Given the description of an element on the screen output the (x, y) to click on. 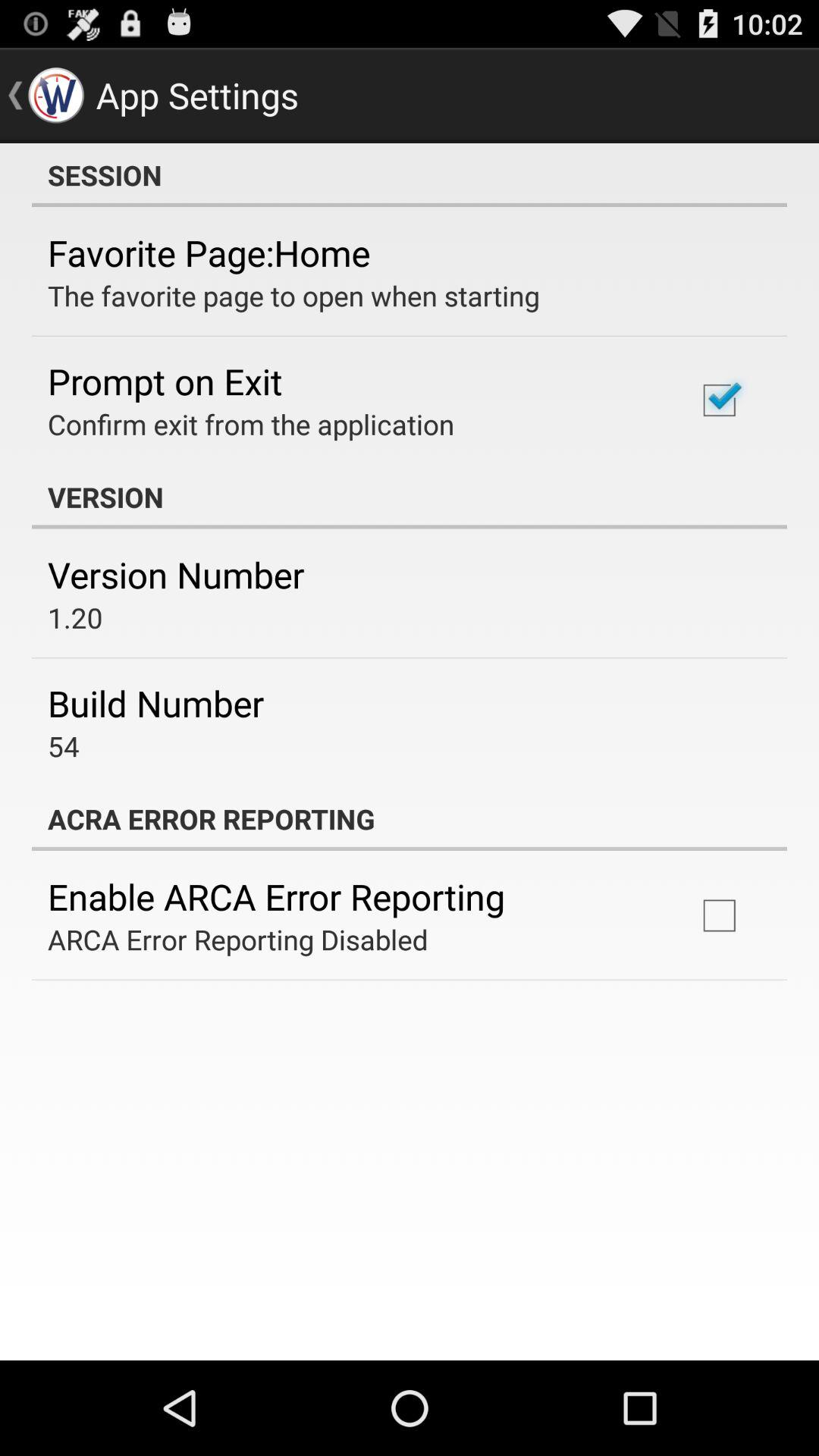
select item above 1.20 icon (175, 574)
